Given the description of an element on the screen output the (x, y) to click on. 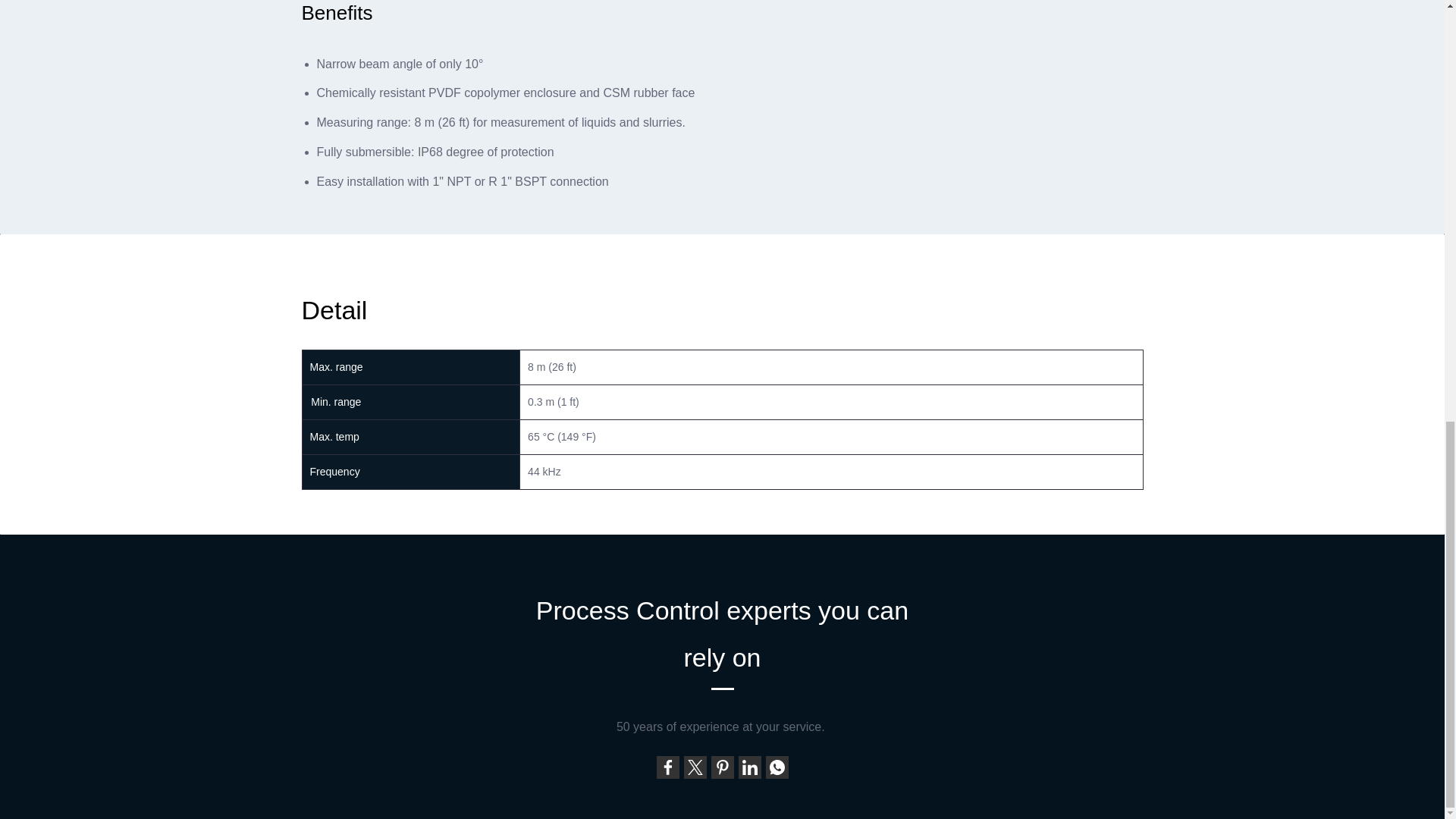
Twitter (695, 766)
LinkedIn (749, 766)
WhatsApp (777, 766)
Pinterest (722, 766)
Facebook (667, 766)
